Given the description of an element on the screen output the (x, y) to click on. 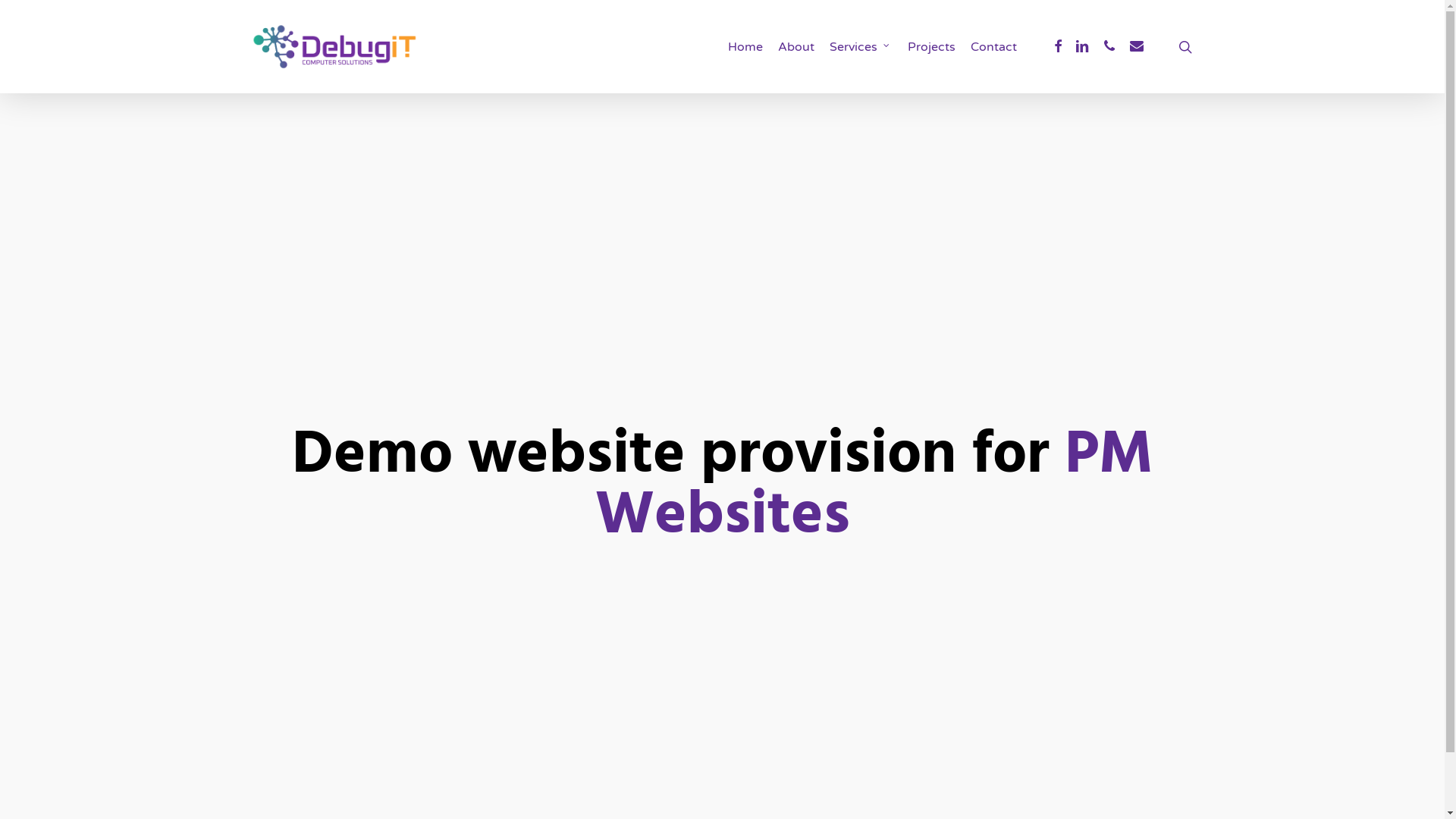
phone Element type: text (1109, 45)
Contact Element type: text (993, 46)
Projects Element type: text (931, 46)
linkedin Element type: text (1081, 45)
facebook Element type: text (1057, 45)
Home Element type: text (745, 46)
email Element type: text (1136, 45)
search Element type: text (1185, 46)
About Element type: text (796, 46)
Services Element type: text (860, 46)
PM Websites Element type: text (873, 486)
